Given the description of an element on the screen output the (x, y) to click on. 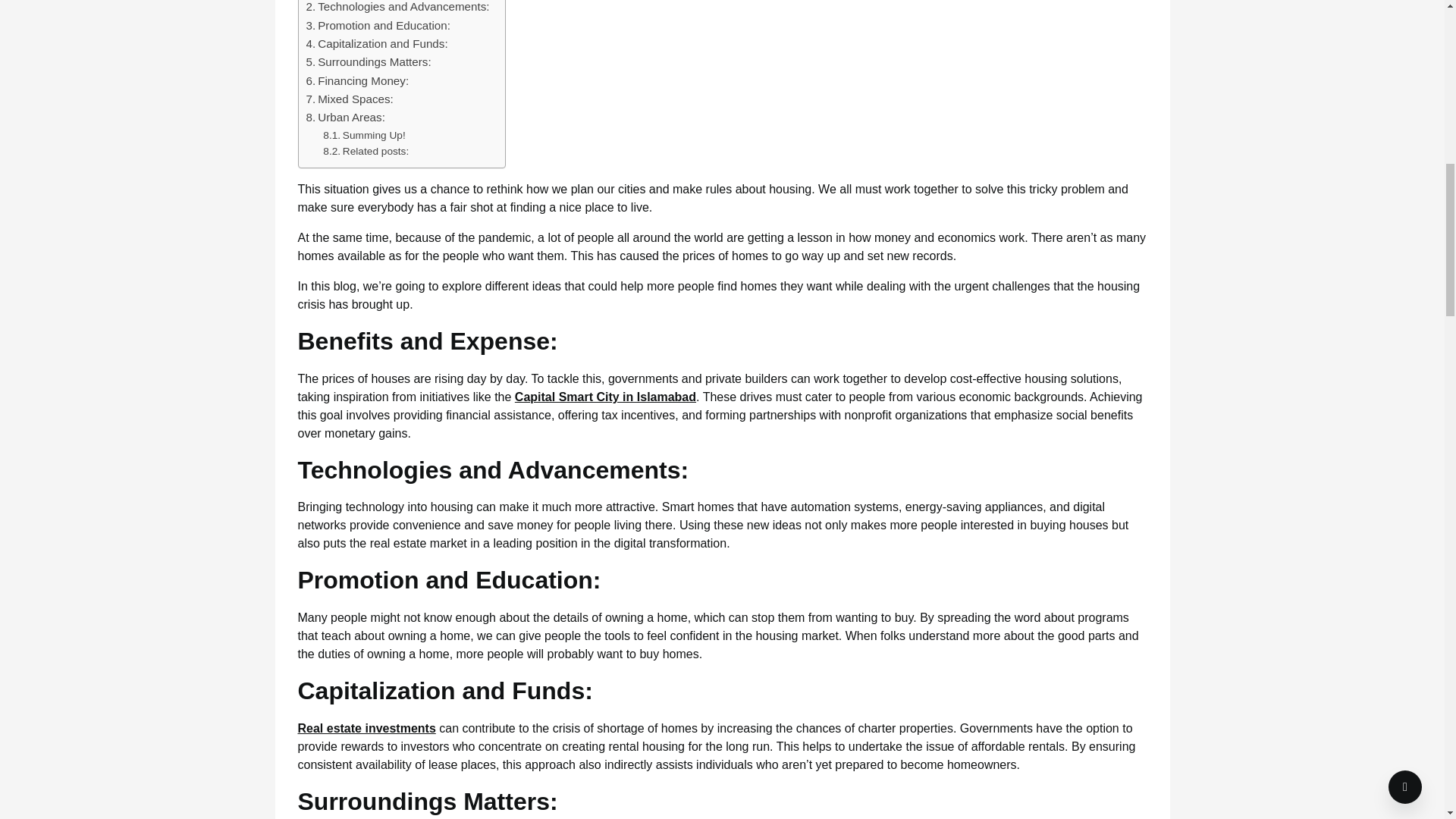
Technologies and Advancements: (397, 7)
Surroundings Matters: (367, 62)
Promotion and Education: (378, 25)
Urban Areas: (345, 117)
Capitalization and Funds: (376, 44)
Mixed Spaces: (349, 99)
Surroundings Matters: (367, 62)
Summing Up! (363, 135)
Promotion and Education: (378, 25)
Financing Money: (357, 81)
